Given the description of an element on the screen output the (x, y) to click on. 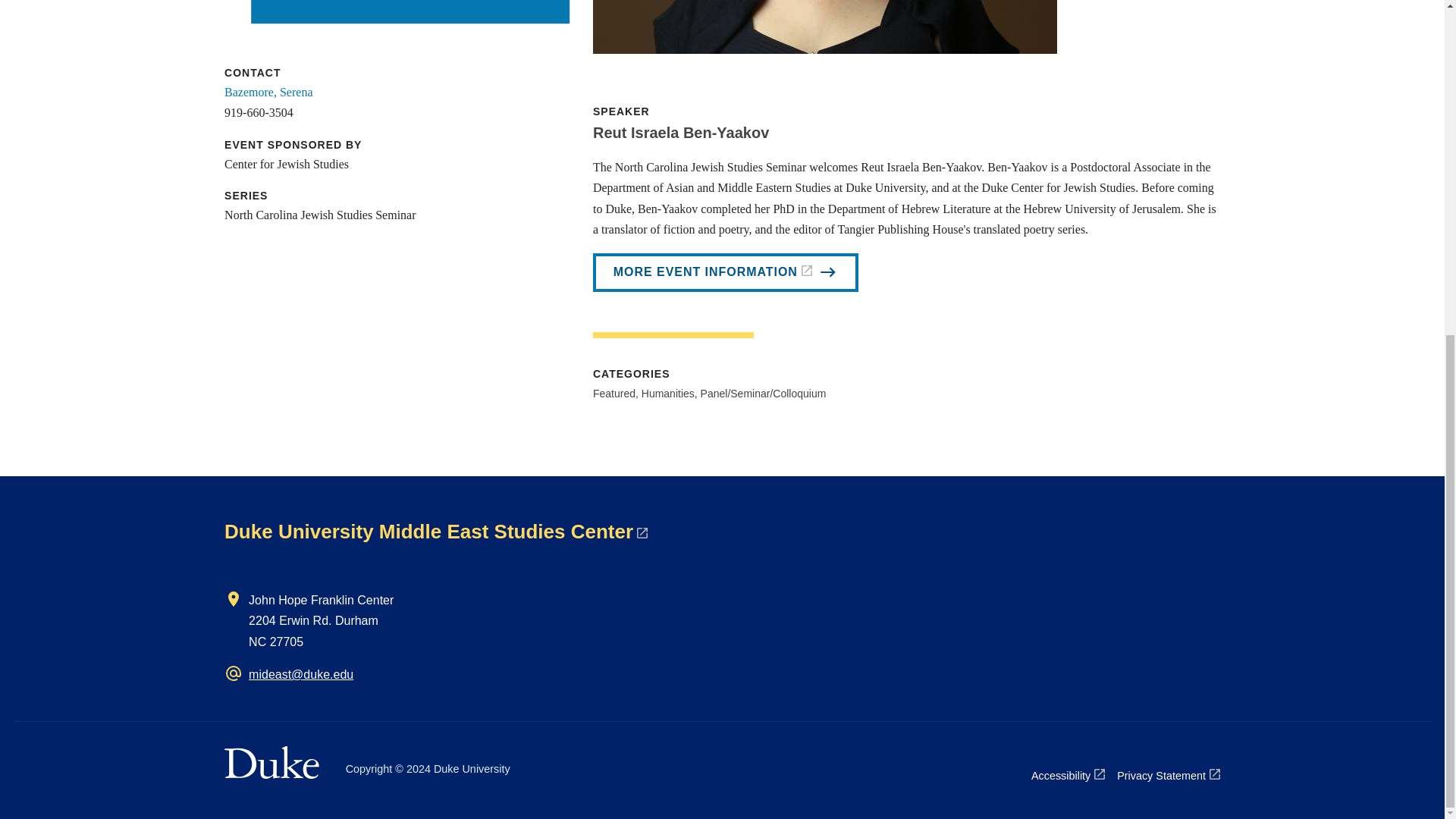
Duke University Middle East Studies Center (435, 531)
MORE EVENT INFORMATION (725, 272)
Bazemore, Serena (268, 91)
